Given the description of an element on the screen output the (x, y) to click on. 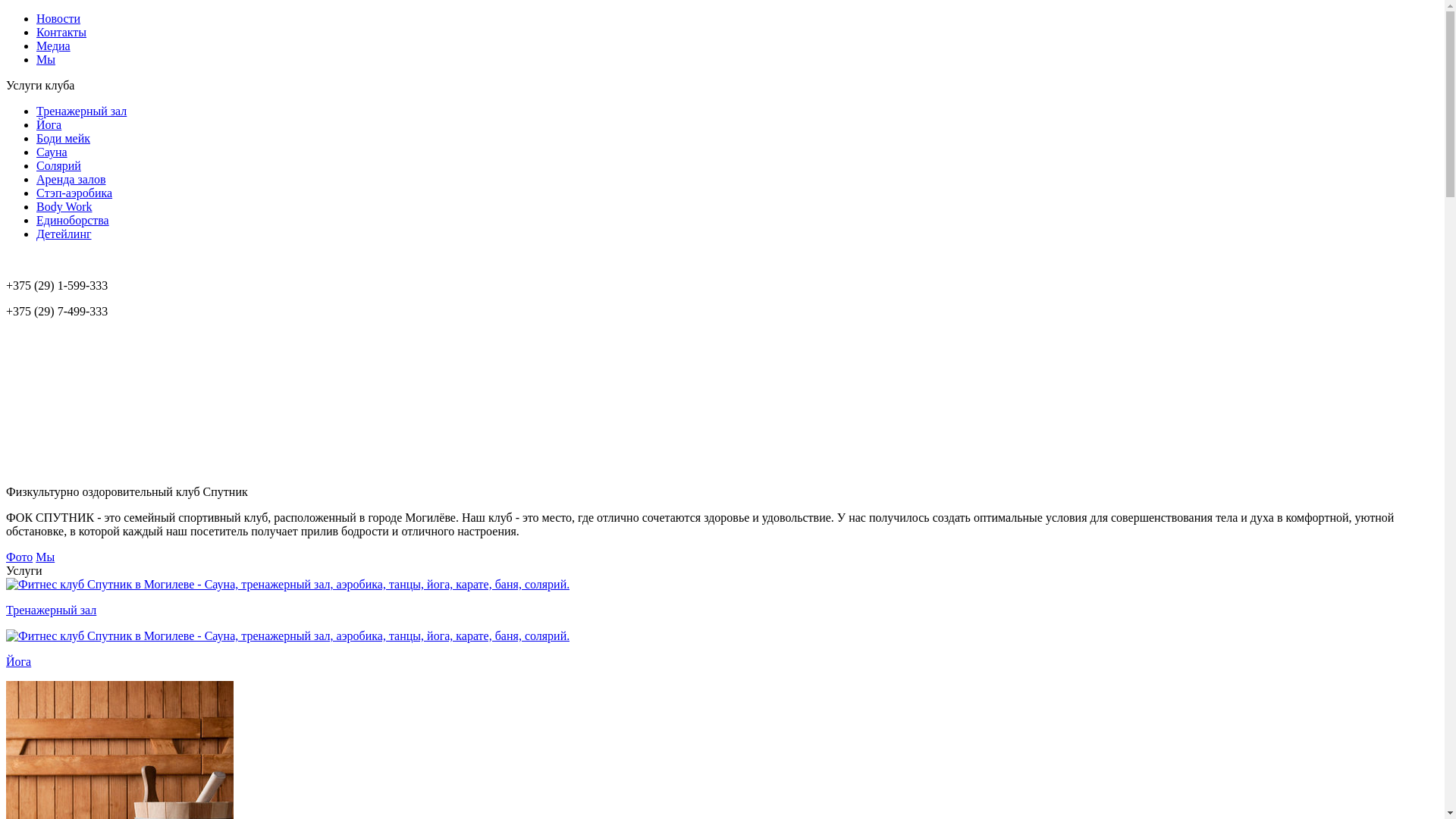
Body Work Element type: text (64, 206)
